Given the description of an element on the screen output the (x, y) to click on. 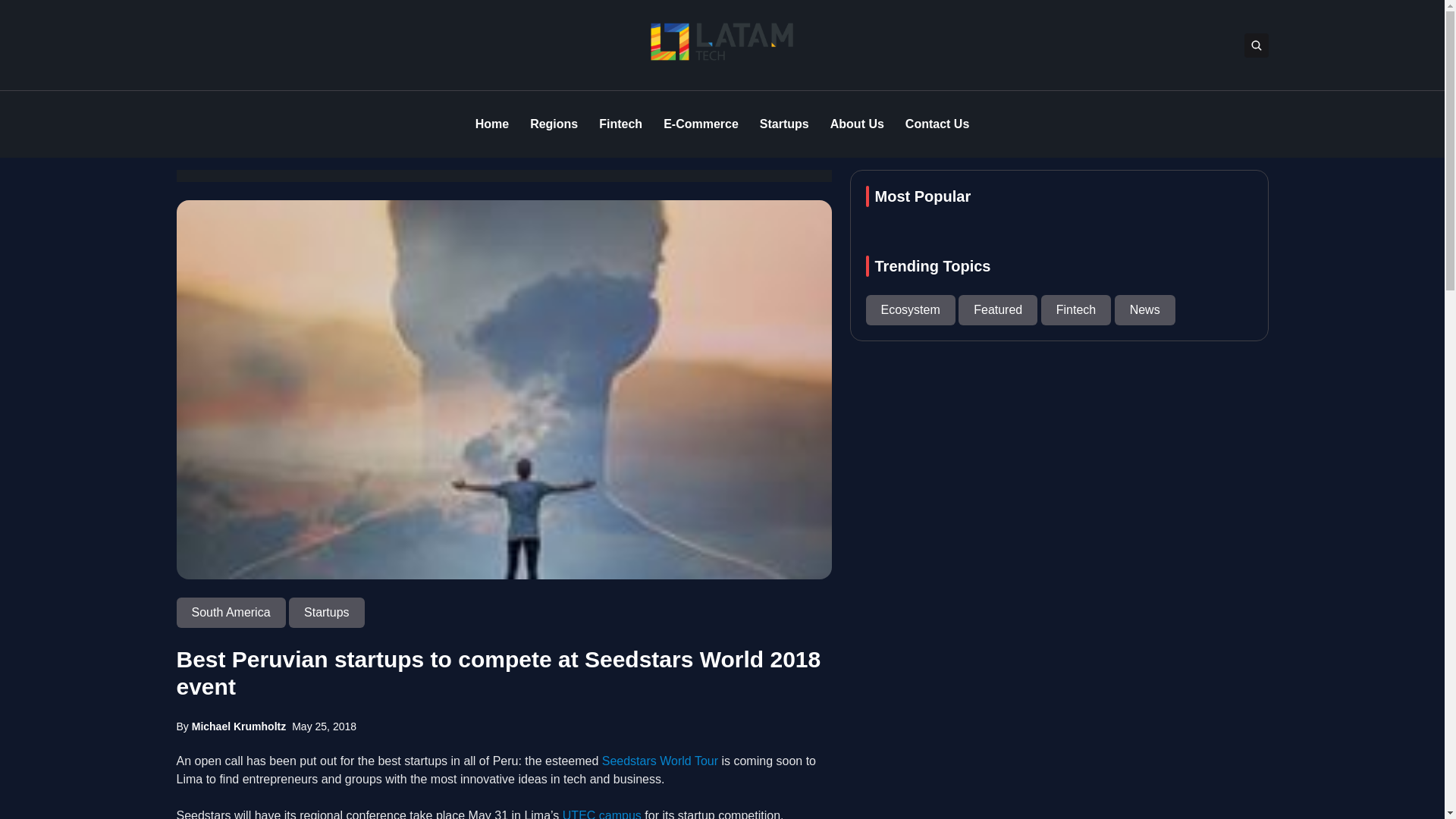
E-Commerce (700, 123)
Seedstars World Tour (659, 760)
Home (492, 123)
About Us (856, 123)
UTEC campus (602, 814)
Fintech (620, 123)
Startups (326, 612)
Michael Krumholtz (238, 726)
Startups (784, 123)
Contact Us (937, 123)
South America (232, 612)
Regions (553, 123)
